Given the description of an element on the screen output the (x, y) to click on. 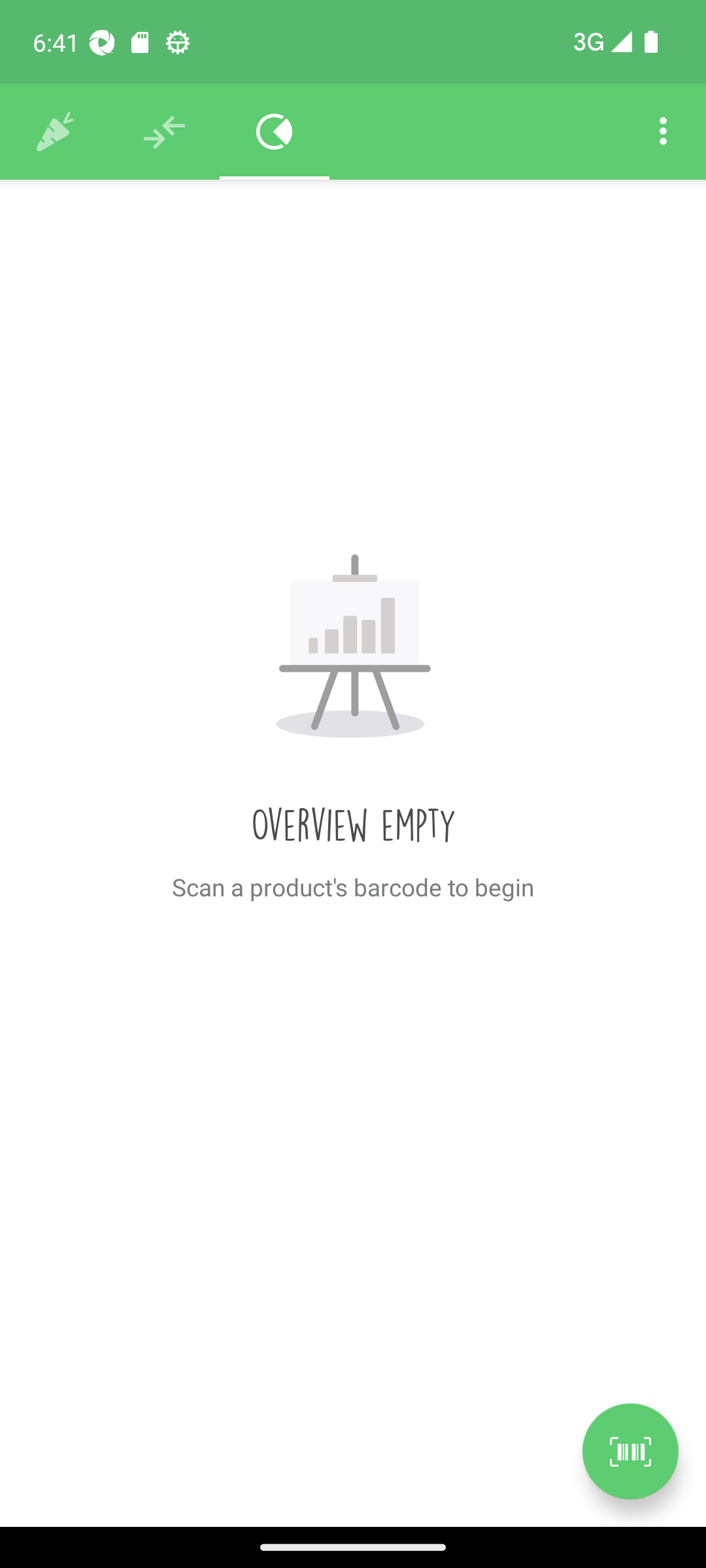
History (55, 131)
Recommendations (164, 131)
Settings (663, 131)
Scan a product (630, 1451)
